Given the description of an element on the screen output the (x, y) to click on. 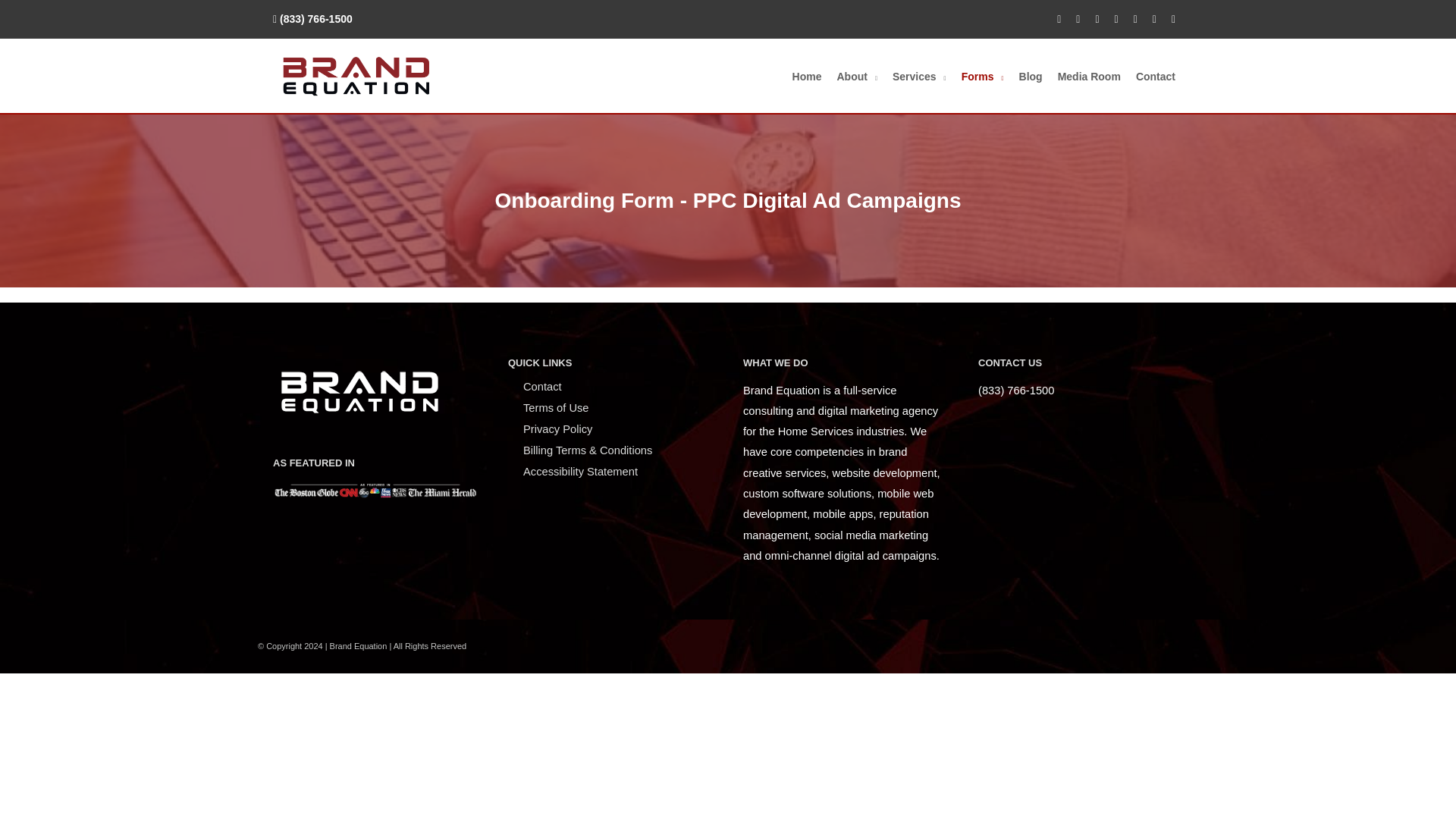
Services (919, 76)
About (857, 76)
Blog (1030, 76)
Home (806, 76)
Forms (982, 76)
